Given the description of an element on the screen output the (x, y) to click on. 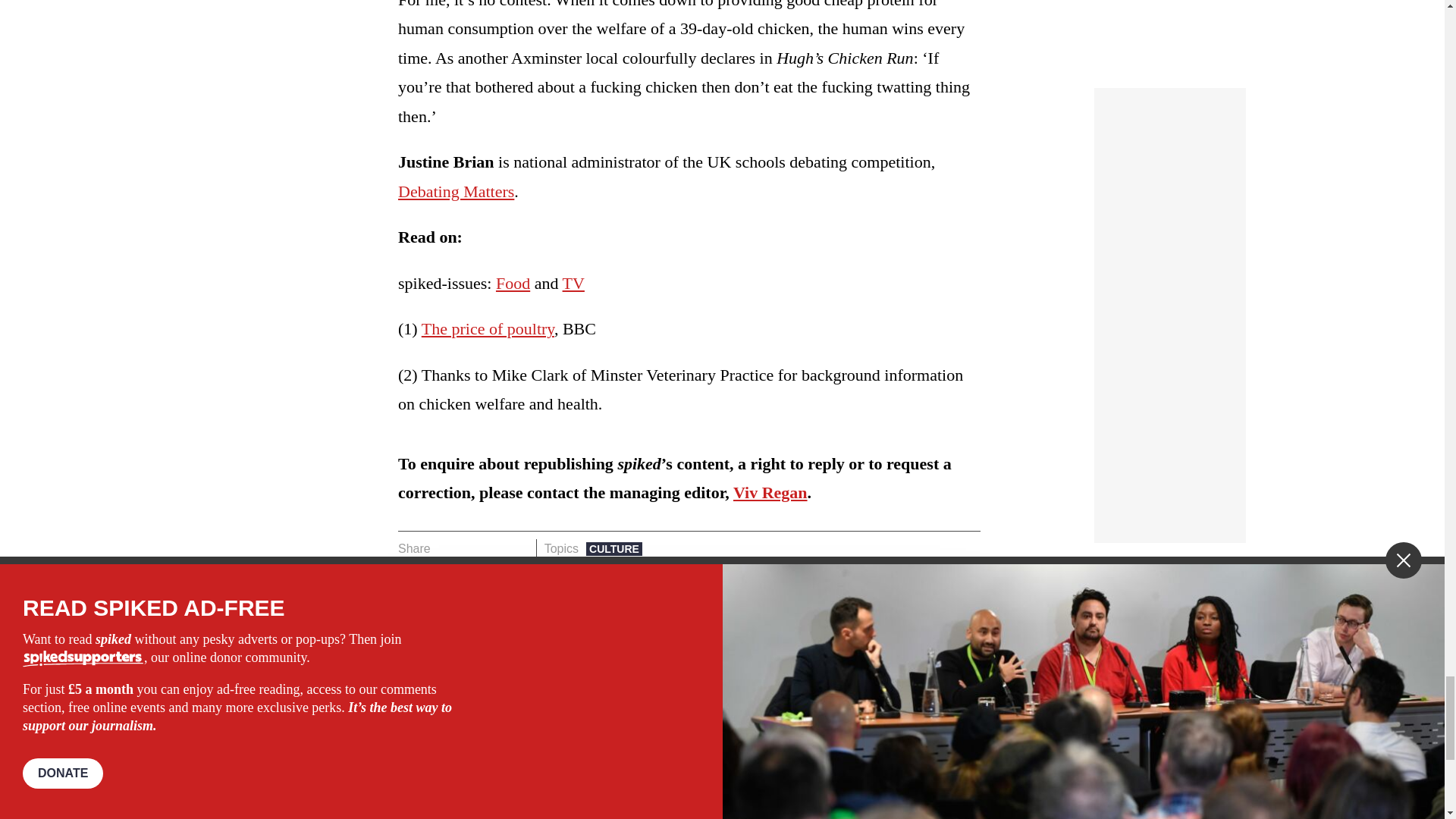
Share on Facebook (448, 548)
Share on Whatsapp (494, 548)
Share on Email (518, 548)
TV (512, 282)
TV (573, 282)
Share on Twitter (471, 548)
